Given the description of an element on the screen output the (x, y) to click on. 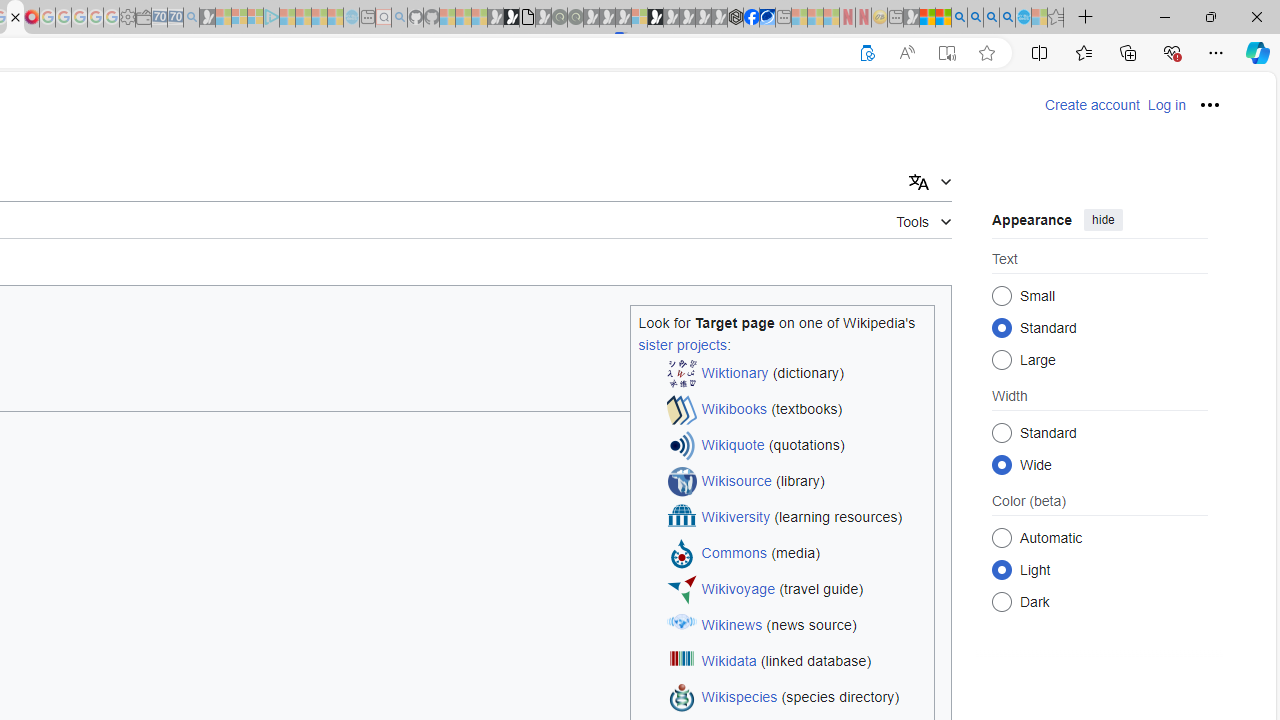
MSN - Sleeping (911, 17)
Bing AI - Search (959, 17)
Wikiversity (learning resources) (796, 518)
sister projects (682, 344)
Wikisource (library) (796, 482)
Favorites - Sleeping (1055, 17)
Wikiquote (quotations) (796, 446)
Wide (1002, 464)
